Given the description of an element on the screen output the (x, y) to click on. 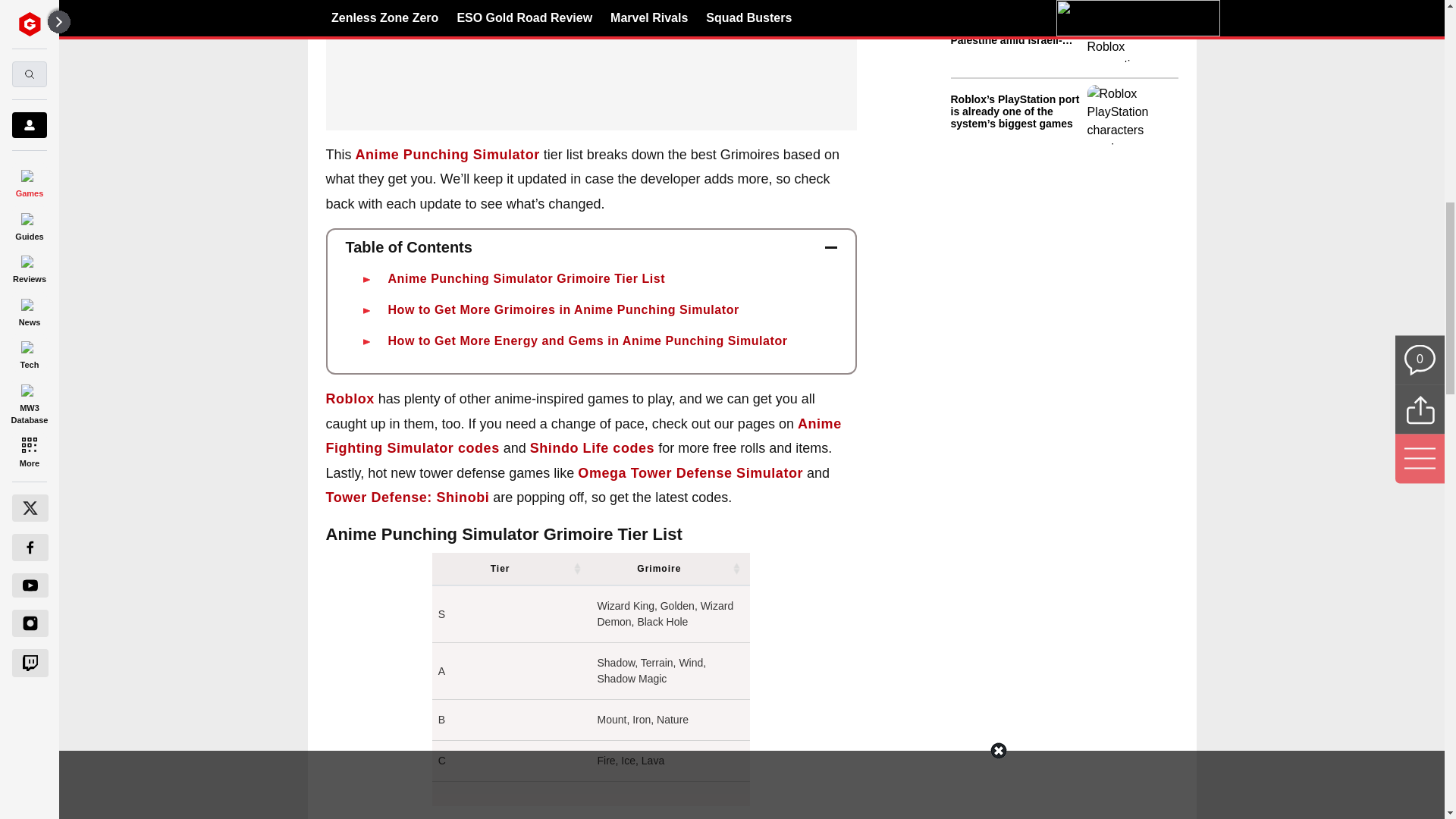
3rd party ad content (1063, 256)
